Given the description of an element on the screen output the (x, y) to click on. 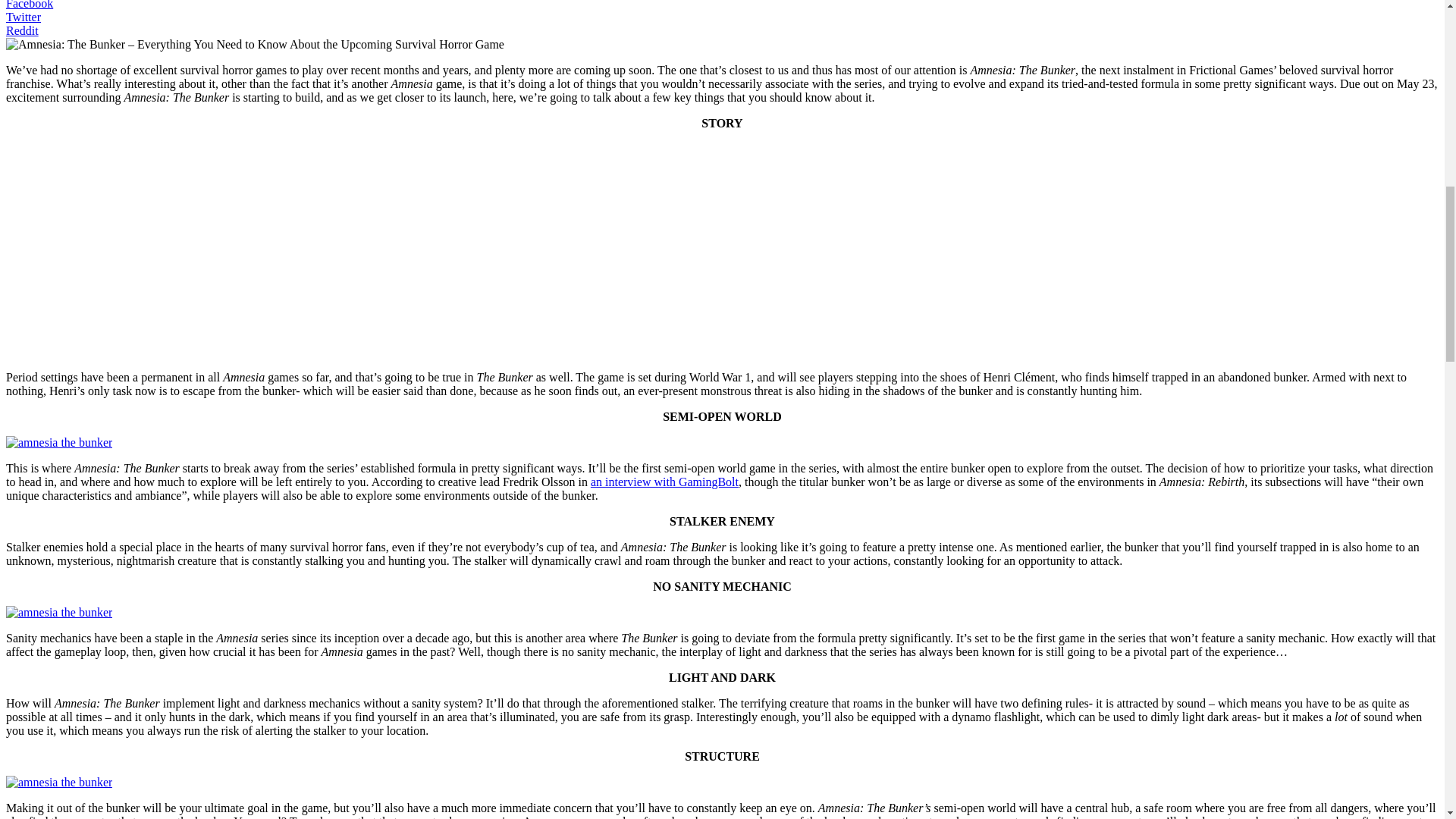
Twitter (22, 16)
Reddit (22, 30)
Facebook (28, 4)
